Given the description of an element on the screen output the (x, y) to click on. 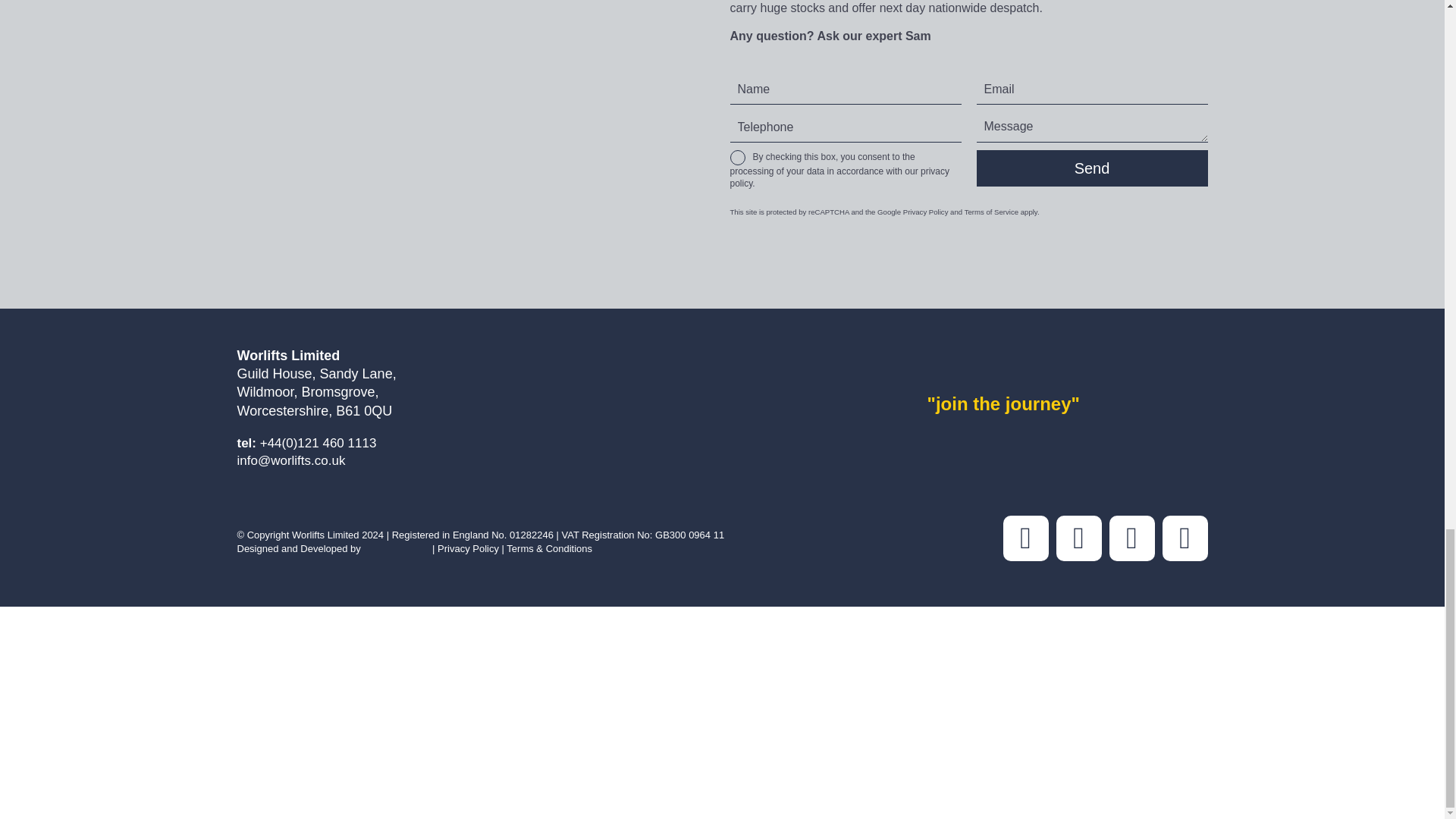
Terms of Service (990, 212)
Privacy Policy (925, 212)
Man 13 (474, 101)
Web Design and Development  (395, 548)
Construction Online (282, 643)
Send (1092, 167)
Worlifts Logo (1067, 365)
AchillesLogo (393, 650)
Send (1092, 167)
